Given the description of an element on the screen output the (x, y) to click on. 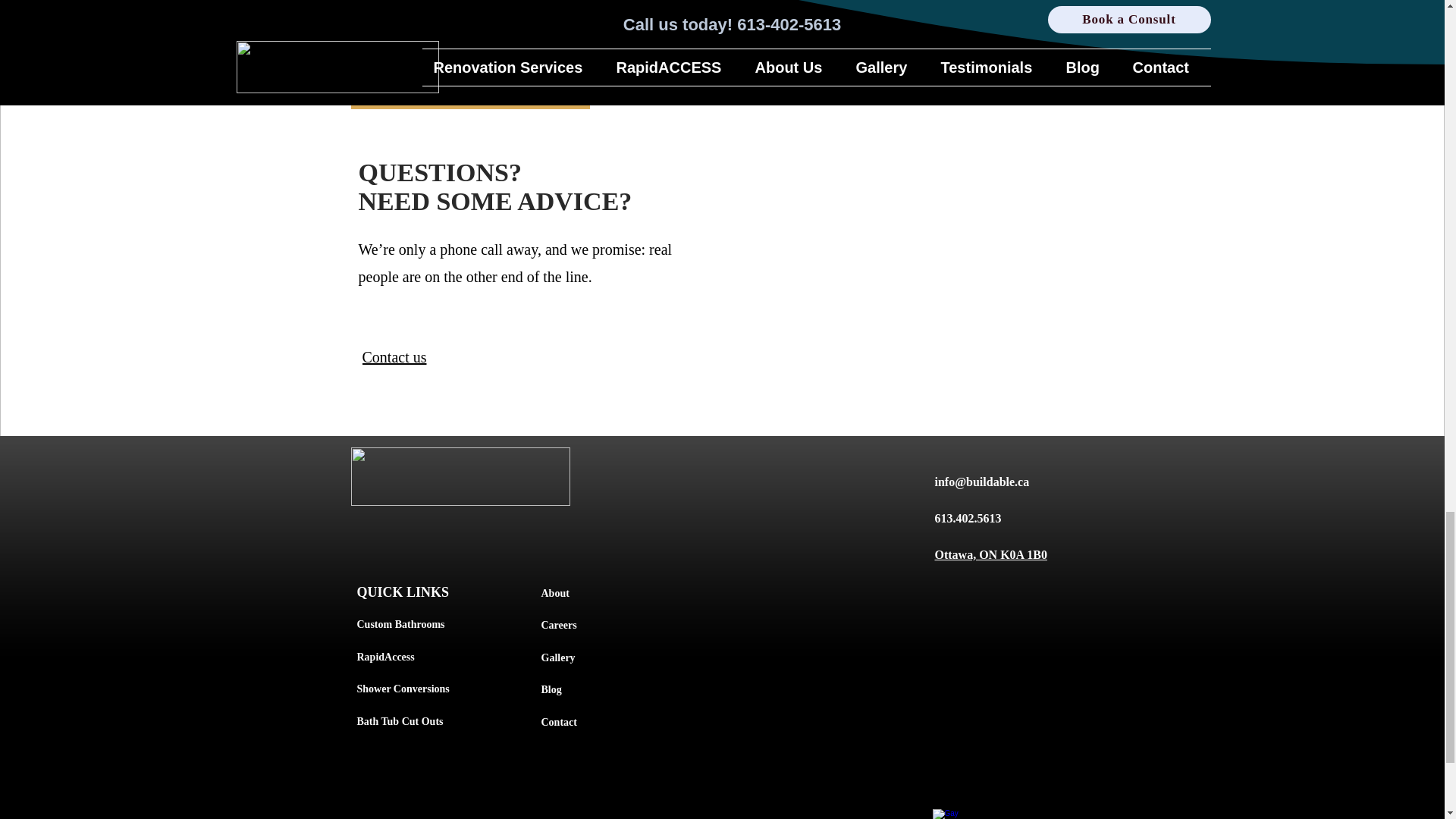
Shower Conversions (402, 688)
Blog (551, 689)
613.402.5613 (967, 517)
Bath Tub Cut Outs (399, 721)
Ottawa, ON K0A 1B0 (990, 554)
RapidAccess (384, 656)
Careers (558, 623)
Gallery (558, 657)
Contact (558, 720)
About (555, 593)
